Given the description of an element on the screen output the (x, y) to click on. 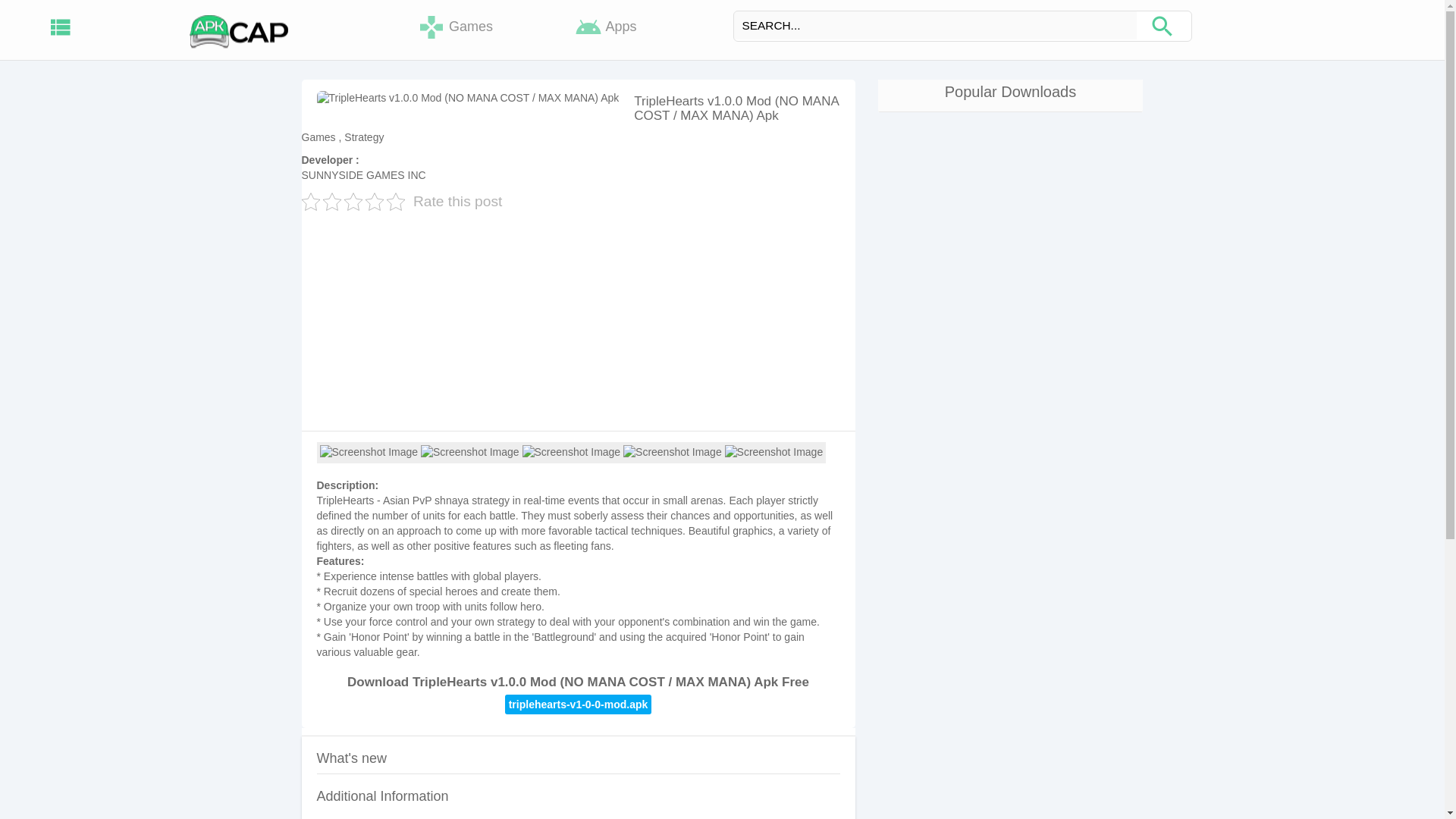
Games (454, 26)
Apps (606, 26)
Advertisement (578, 318)
